Given the description of an element on the screen output the (x, y) to click on. 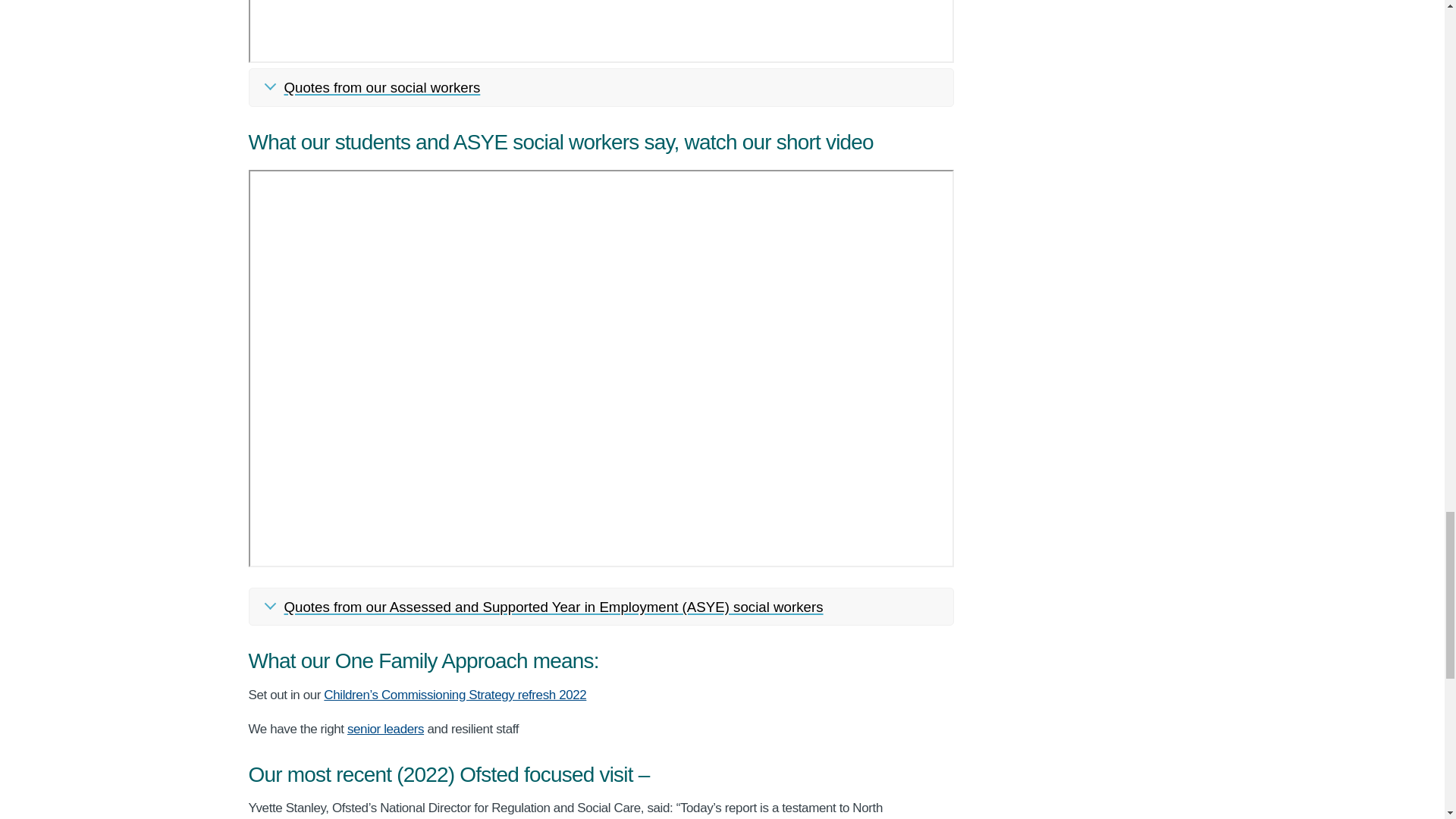
senior leaders (385, 728)
What our social workers say (600, 31)
Quotes from our social workers (600, 87)
